Given the description of an element on the screen output the (x, y) to click on. 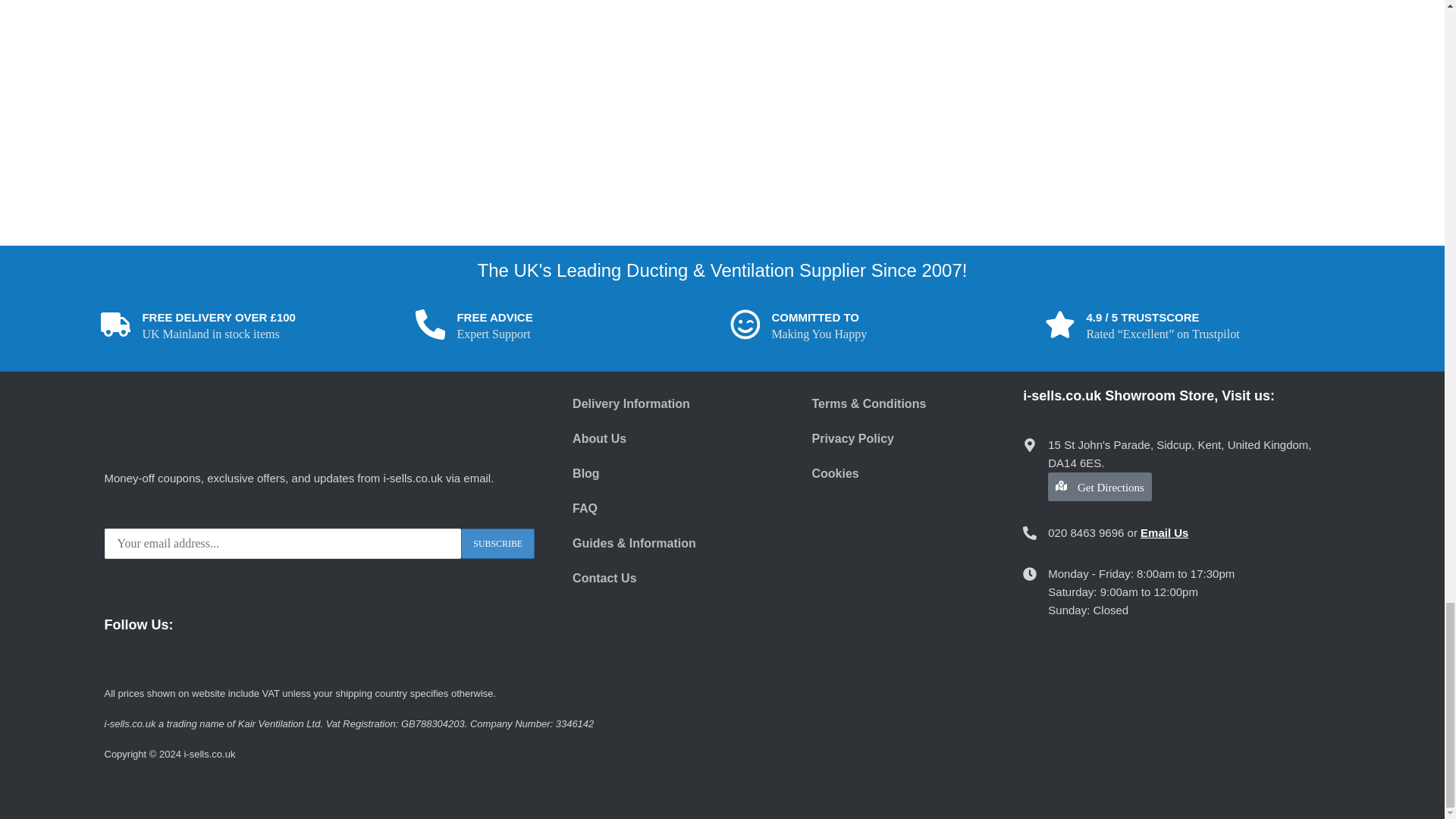
Subscribe (497, 543)
